Given the description of an element on the screen output the (x, y) to click on. 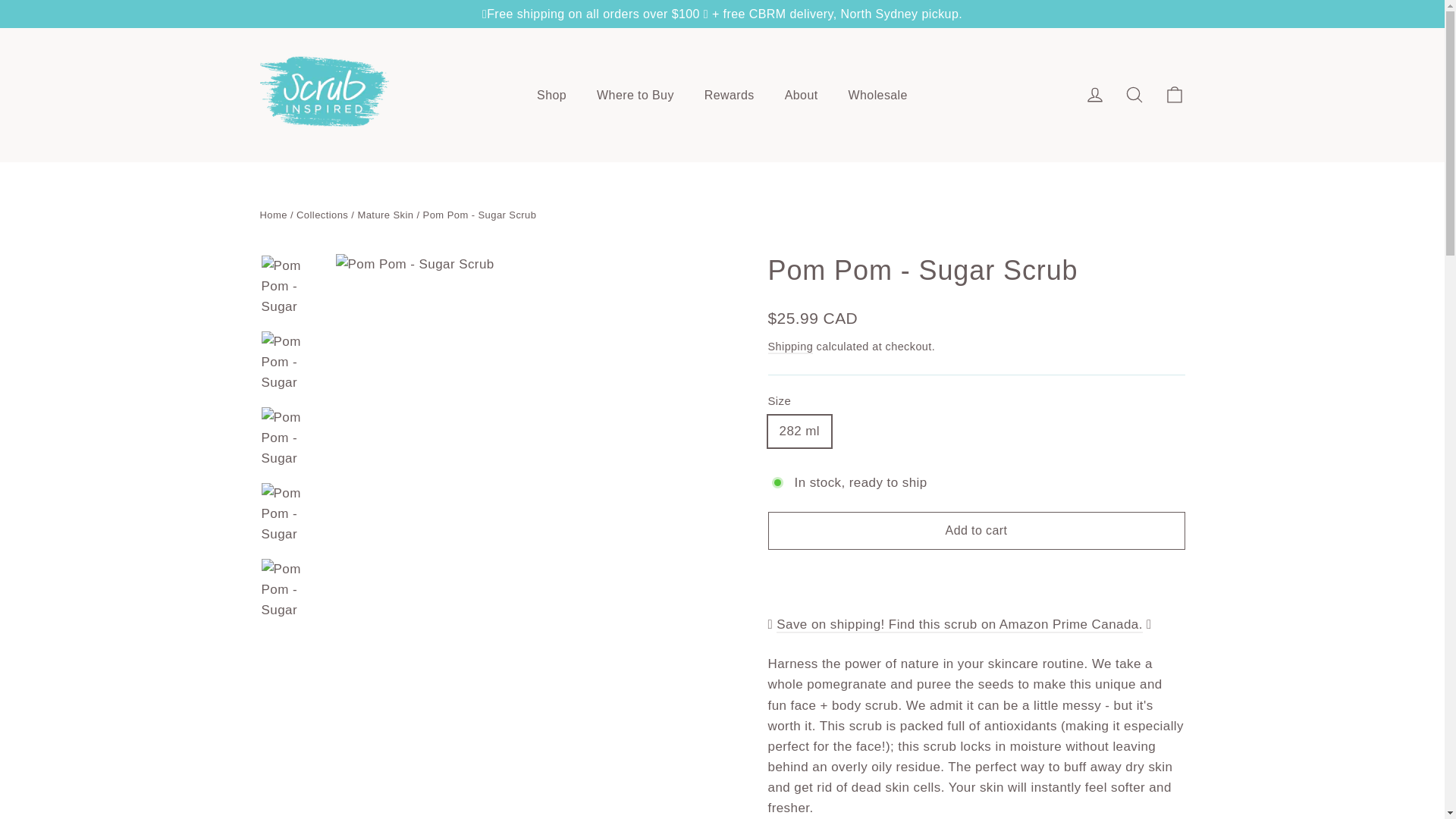
Back to the frontpage (272, 214)
